Given the description of an element on the screen output the (x, y) to click on. 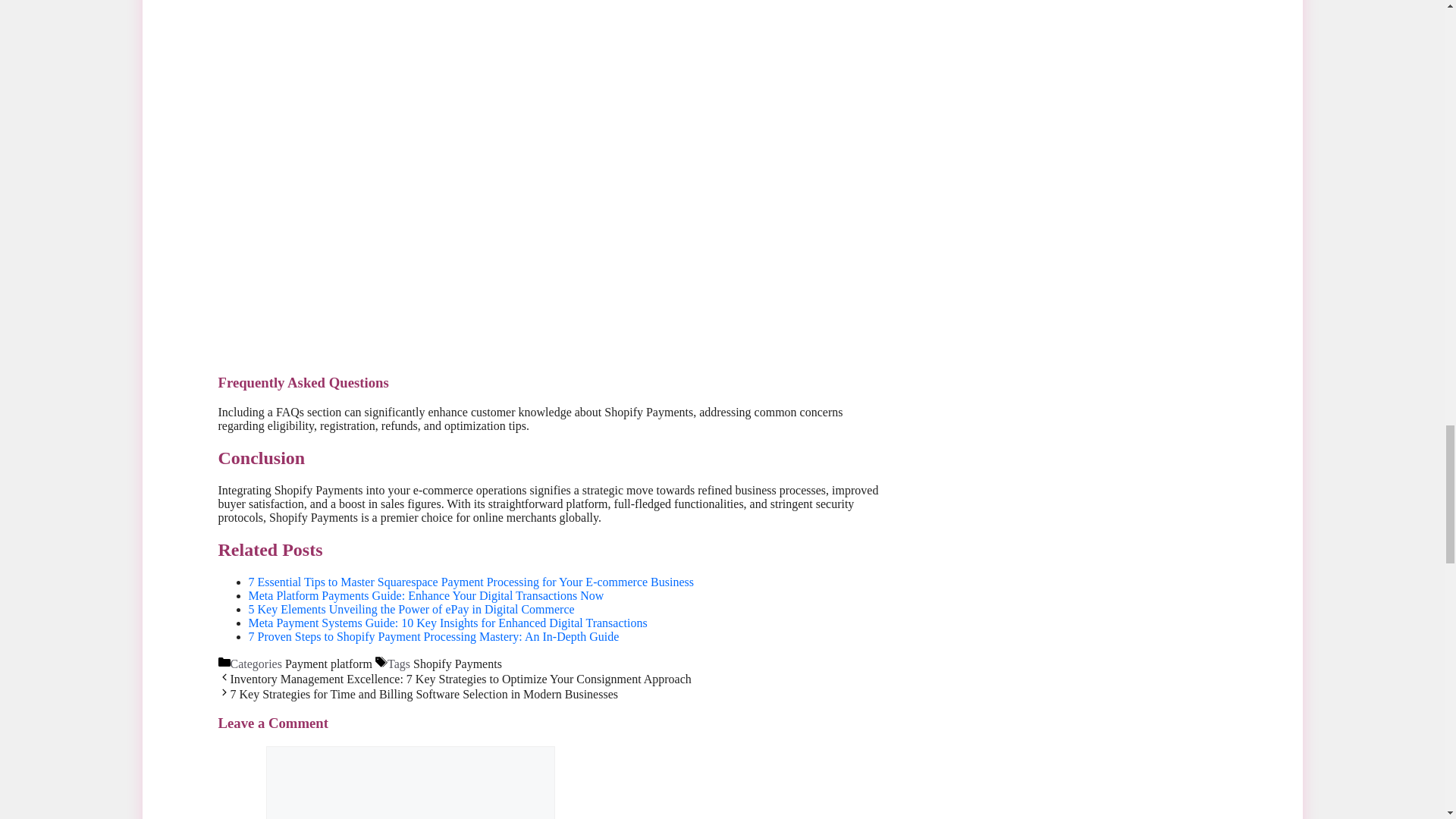
Payment platform (328, 663)
Shopify Payments (457, 663)
